Given the description of an element on the screen output the (x, y) to click on. 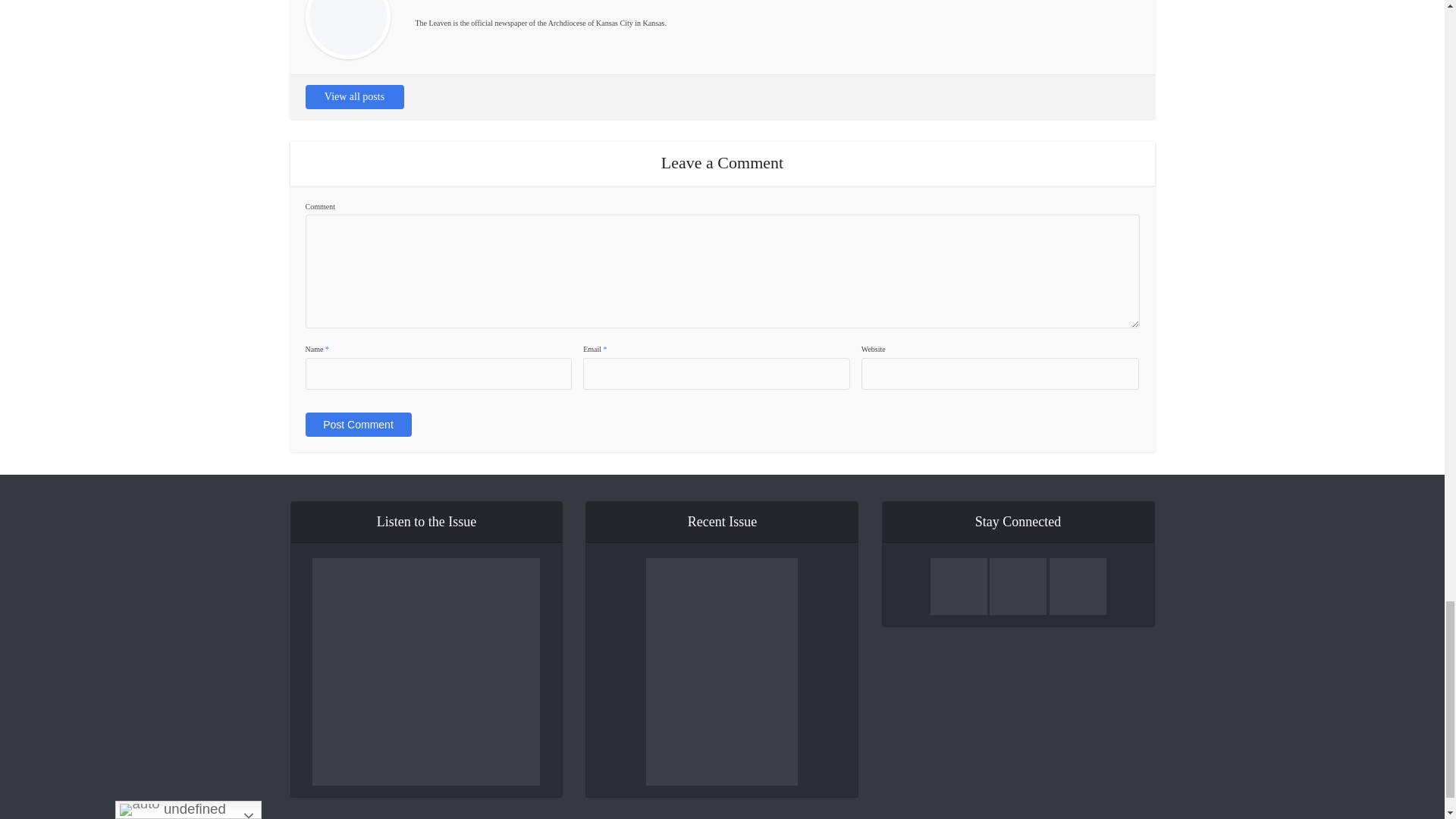
Post Comment (357, 424)
